Given the description of an element on the screen output the (x, y) to click on. 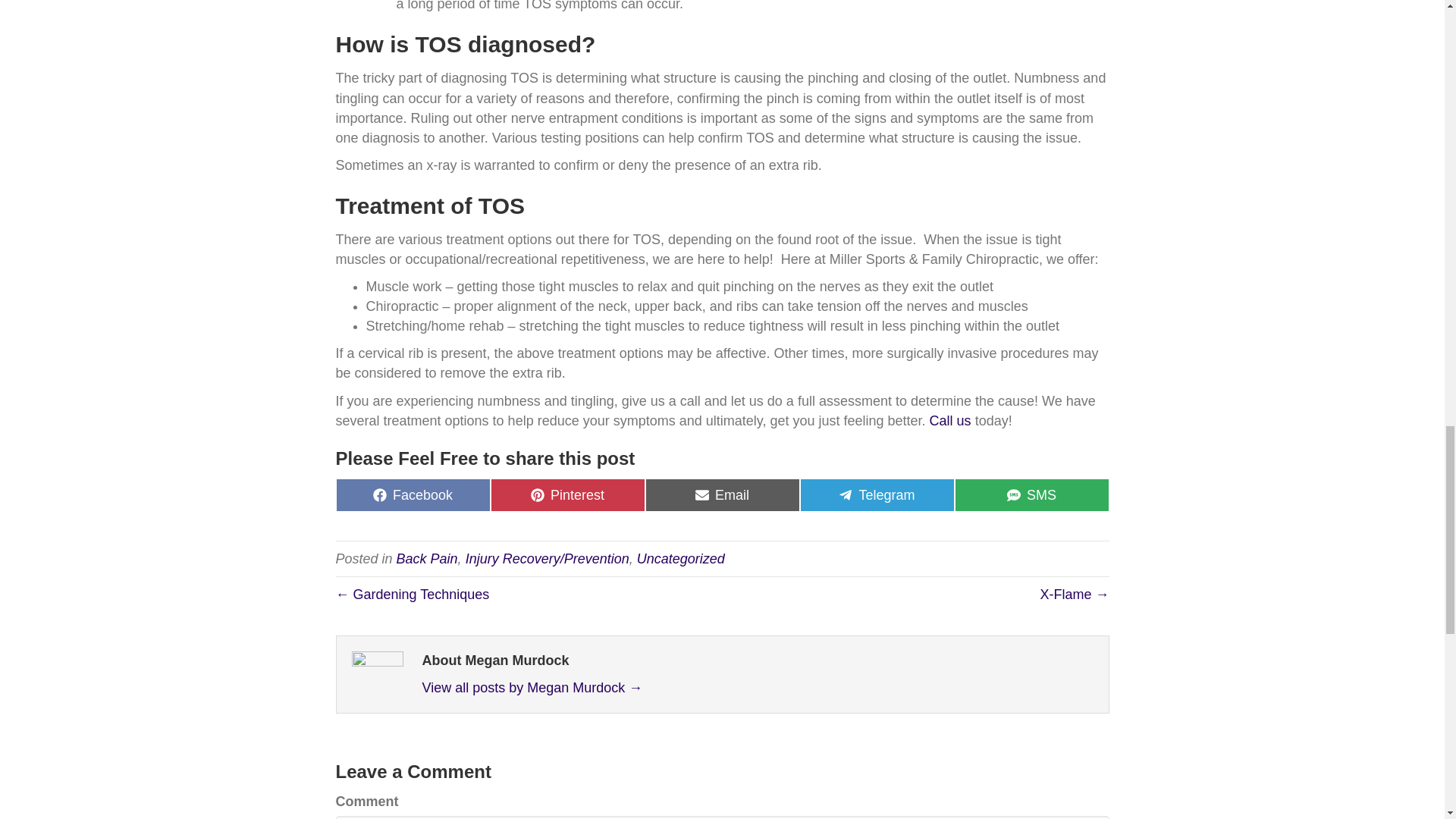
Uncategorized (722, 494)
Call us (681, 558)
Back Pain (950, 420)
